Given the description of an element on the screen output the (x, y) to click on. 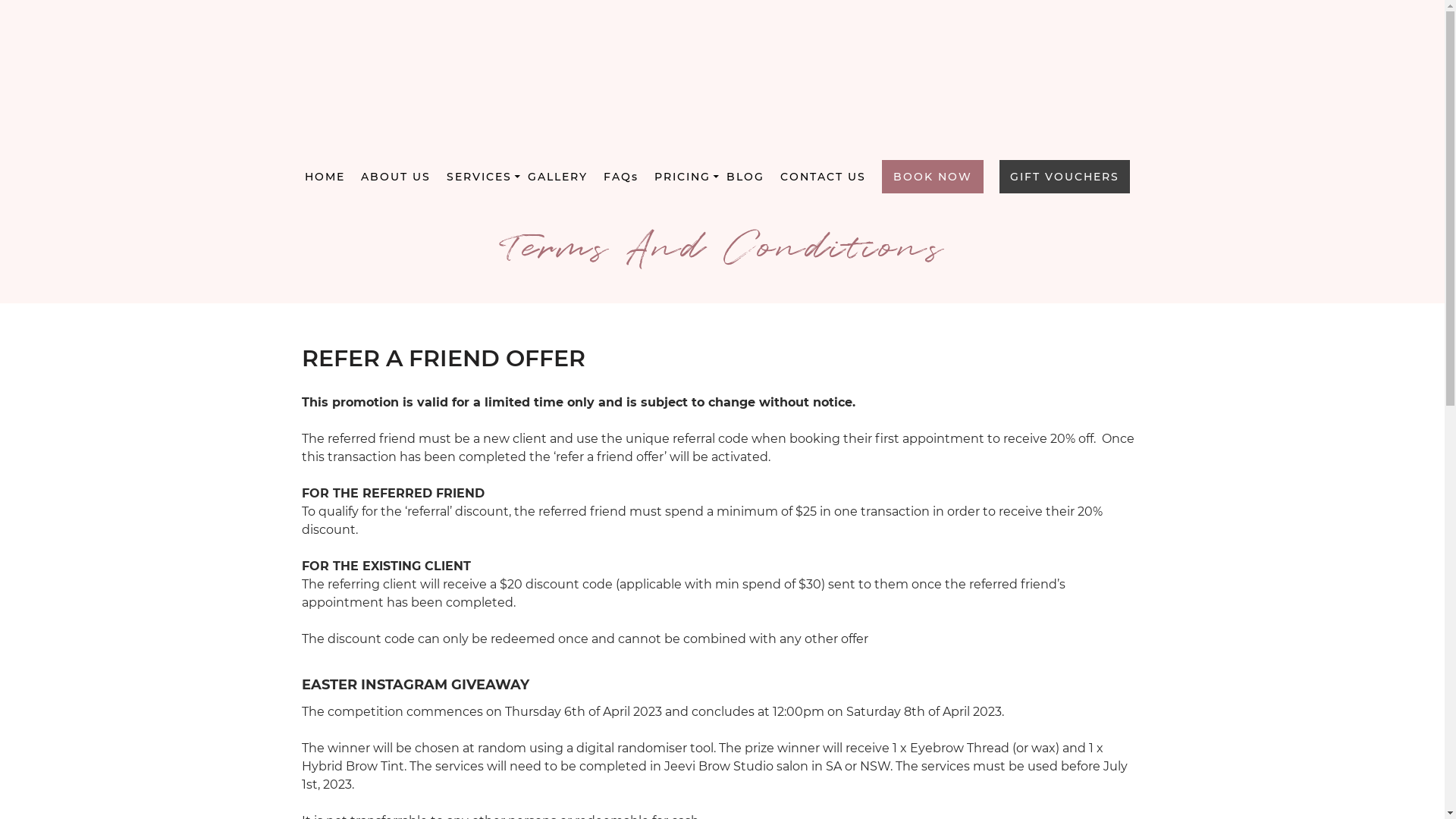
BOOK NOW Element type: text (932, 176)
FAQs Element type: text (620, 176)
GALLERY Element type: text (557, 176)
HOME Element type: text (324, 176)
SKIP TO CONTENT Element type: text (716, 164)
GIFT VOUCHERS Element type: text (1064, 176)
BLOG Element type: text (745, 176)
PRICING Element type: text (682, 176)
CONTACT US Element type: text (823, 176)
SERVICES Element type: text (478, 176)
ABOUT US Element type: text (395, 176)
